Given the description of an element on the screen output the (x, y) to click on. 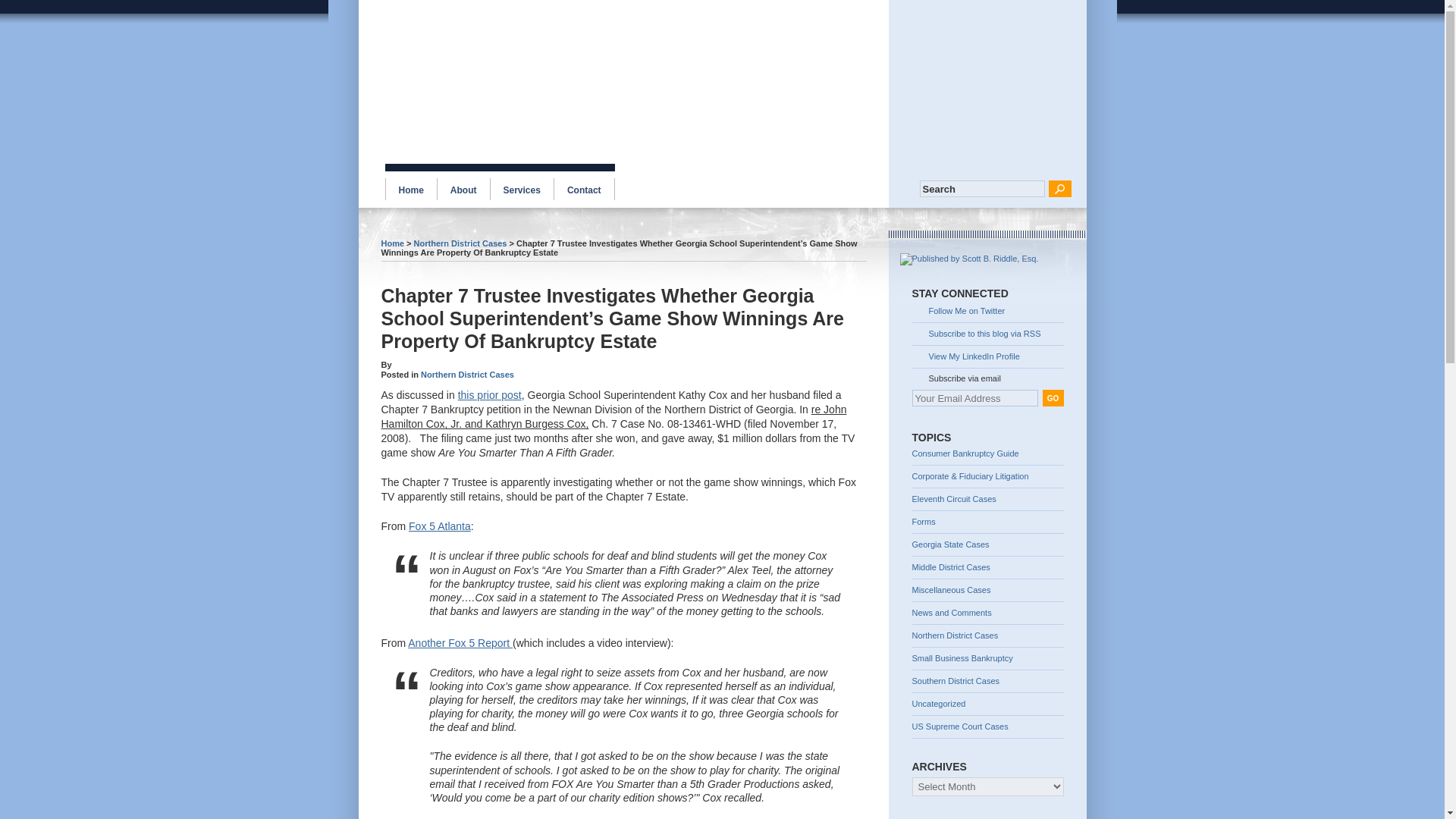
Subscribe to this blog via RSS (986, 333)
Go (1059, 188)
Southern District Cases (986, 681)
Consumer Bankruptcy Guide (986, 456)
this prior post (489, 395)
rss (986, 333)
Northern District Cases (466, 374)
Small Business Bankruptcy (986, 658)
twitter (986, 312)
Search (980, 188)
